Given the description of an element on the screen output the (x, y) to click on. 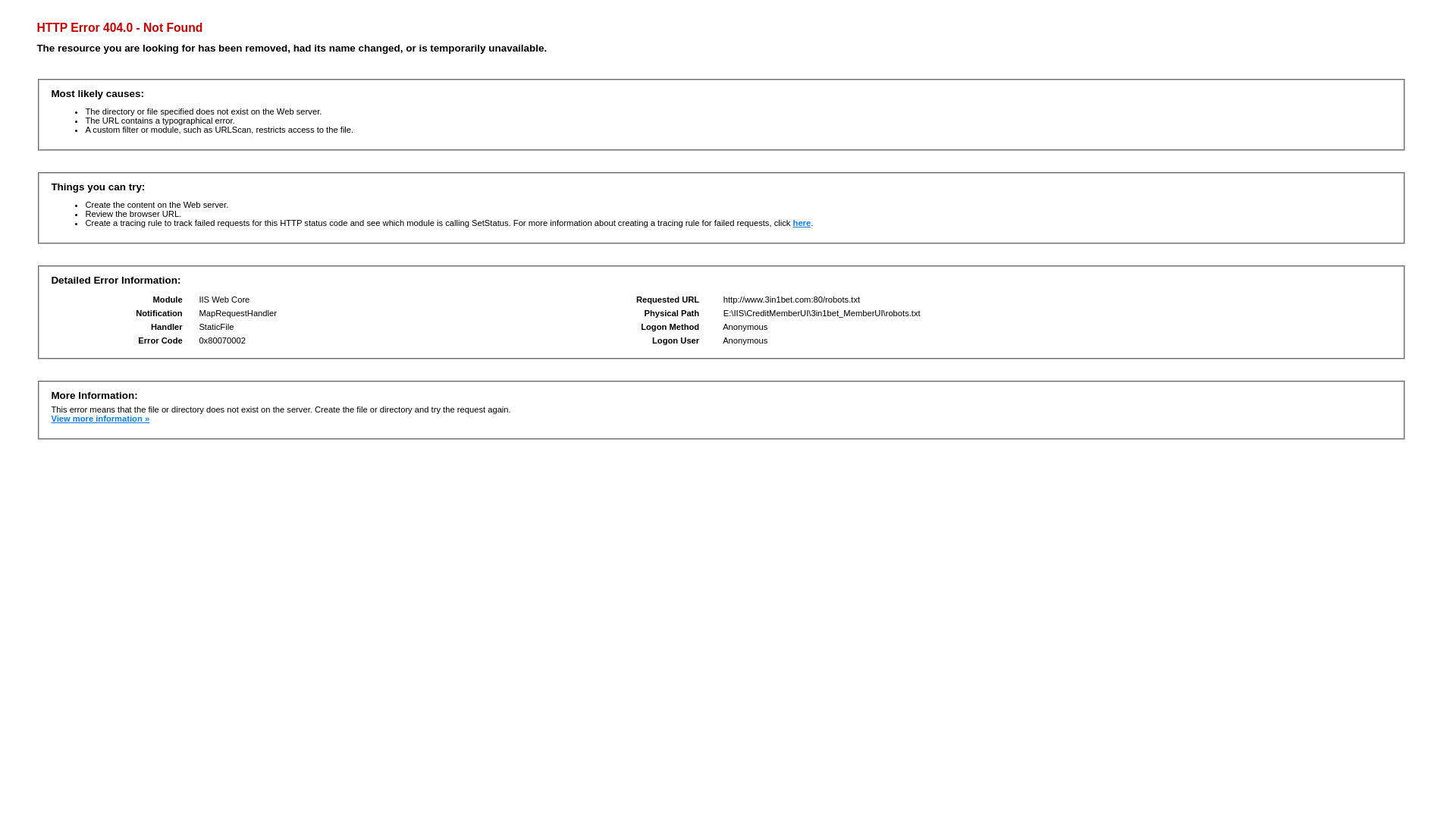
here Element type: text (802, 222)
